Given the description of an element on the screen output the (x, y) to click on. 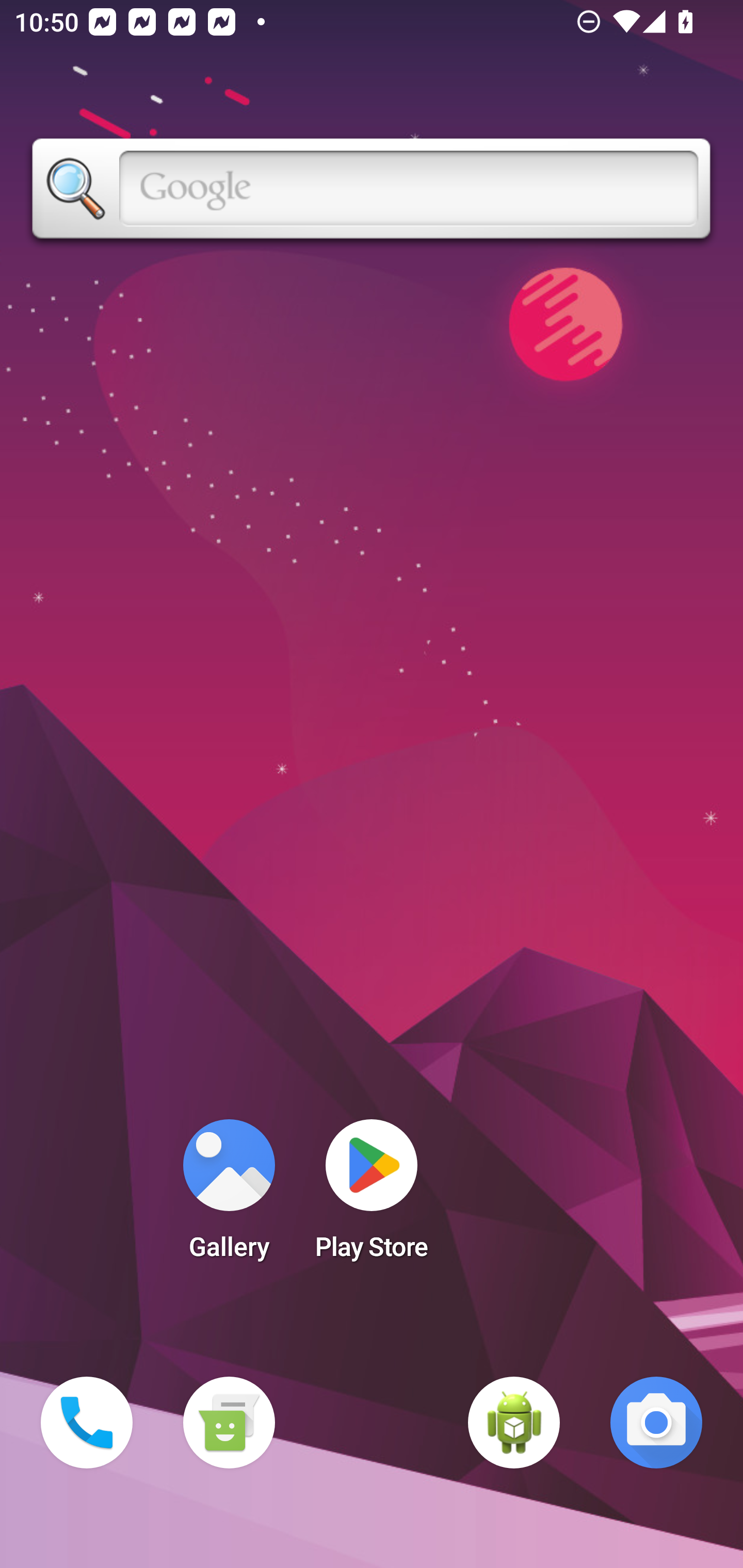
Gallery (228, 1195)
Play Store (371, 1195)
Phone (86, 1422)
Messaging (228, 1422)
WebView Browser Tester (513, 1422)
Camera (656, 1422)
